Given the description of an element on the screen output the (x, y) to click on. 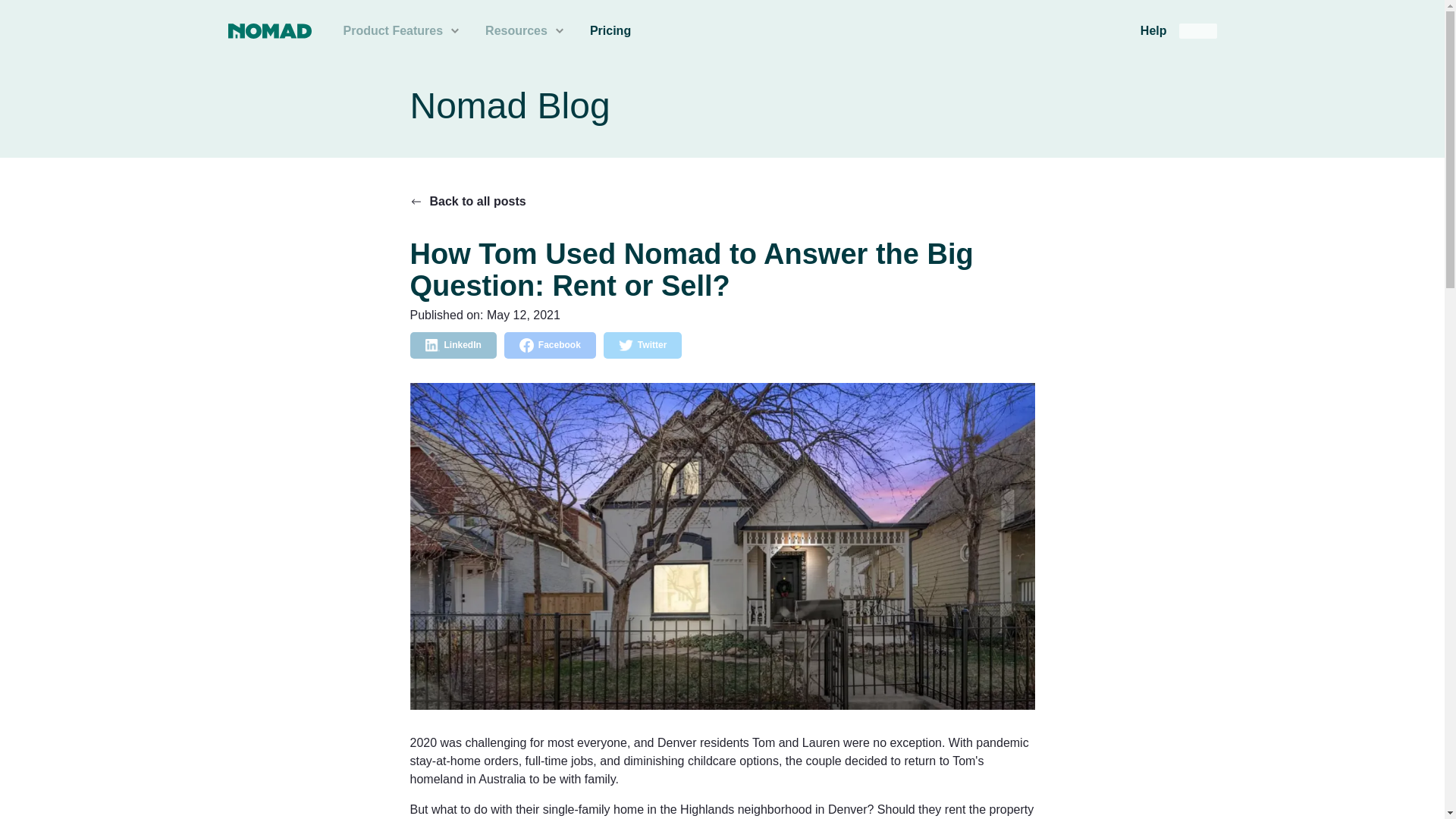
Facebook (549, 345)
Pricing (610, 31)
Product Features (401, 30)
Help (1153, 31)
LinkedIn (452, 345)
Resources (525, 30)
Nomad (269, 30)
Twitter (642, 345)
